Given the description of an element on the screen output the (x, y) to click on. 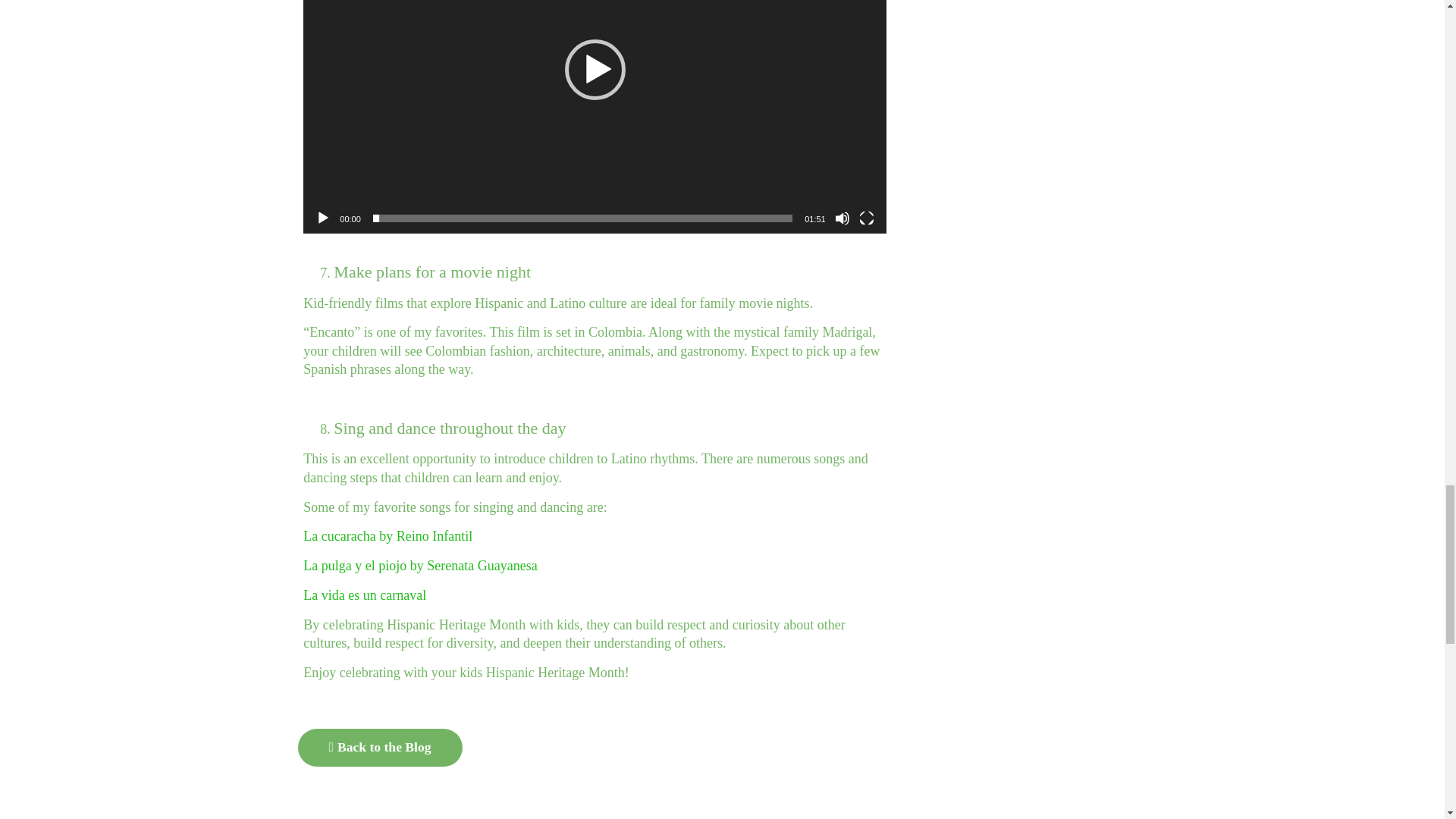
Fullscreen (867, 218)
Play (322, 218)
Mute (842, 218)
